Given the description of an element on the screen output the (x, y) to click on. 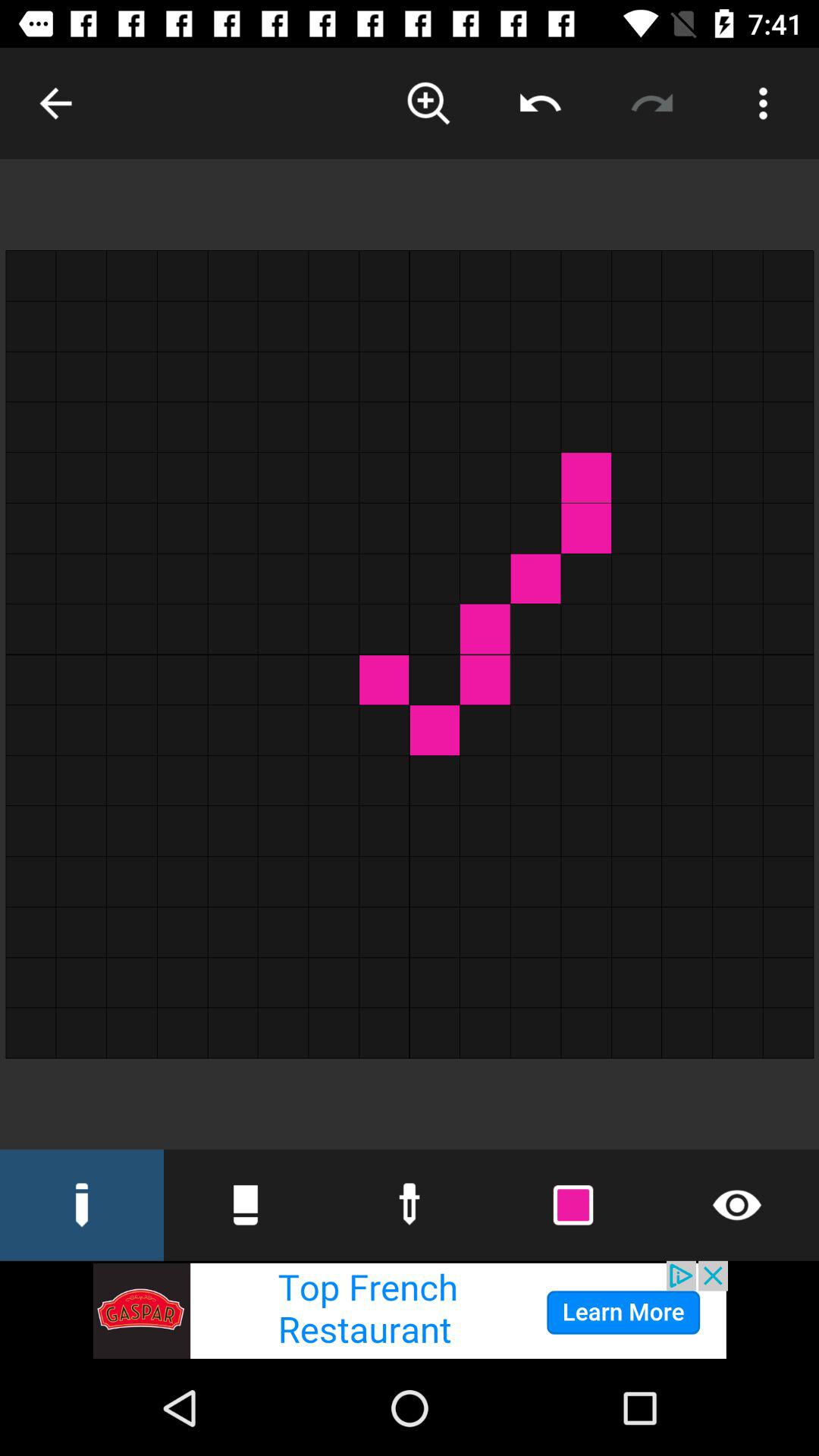
go to the advertisement page (409, 1310)
